Given the description of an element on the screen output the (x, y) to click on. 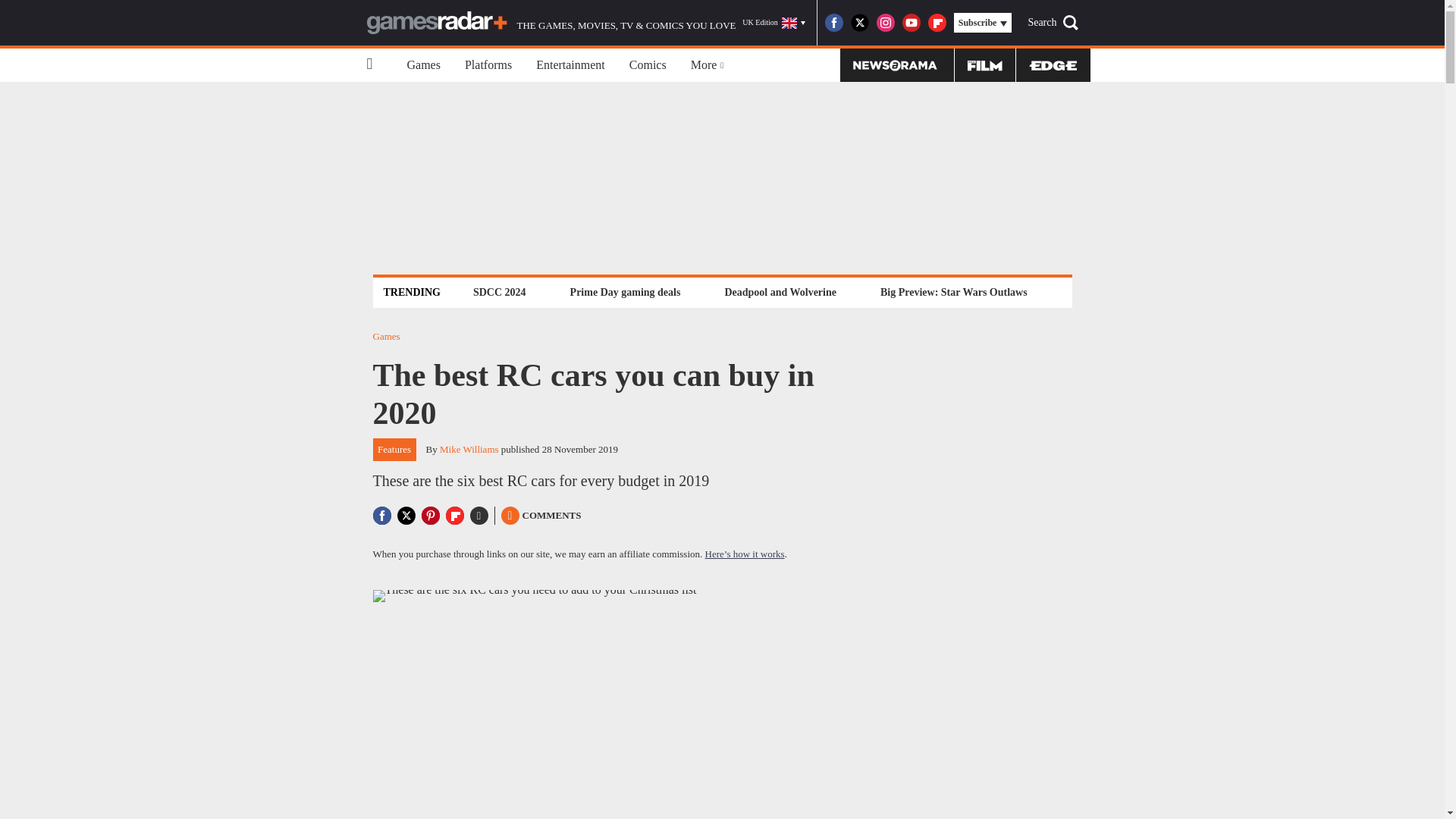
Comics (647, 64)
Prime Day gaming deals (624, 292)
UK Edition (773, 22)
Entertainment (570, 64)
SDCC 2024 (499, 292)
Deadpool and Wolverine (780, 292)
Platforms (488, 64)
Big Preview: Star Wars Outlaws (953, 292)
Games (422, 64)
